Given the description of an element on the screen output the (x, y) to click on. 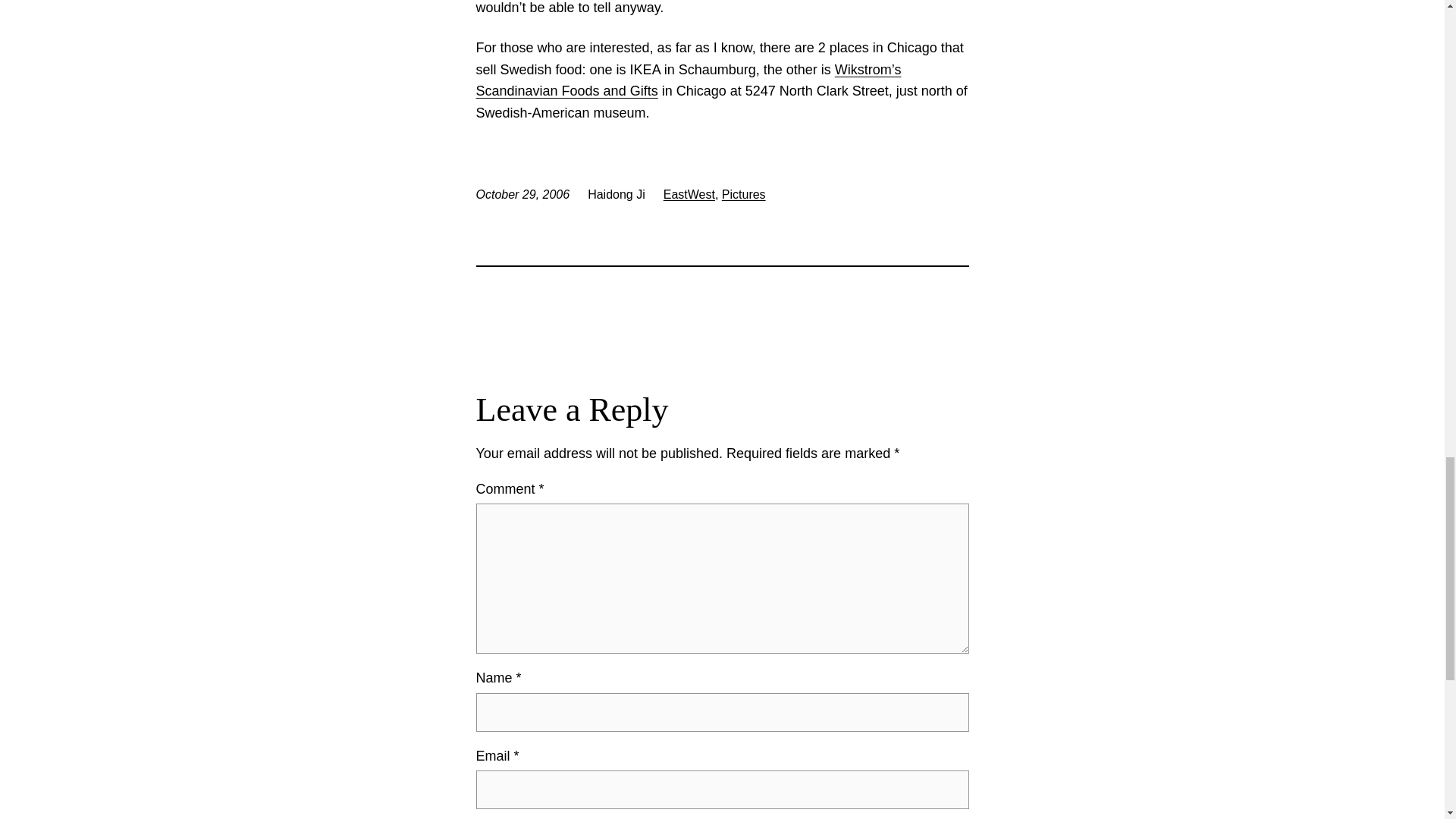
Pictures (743, 194)
EastWest (688, 194)
